Given the description of an element on the screen output the (x, y) to click on. 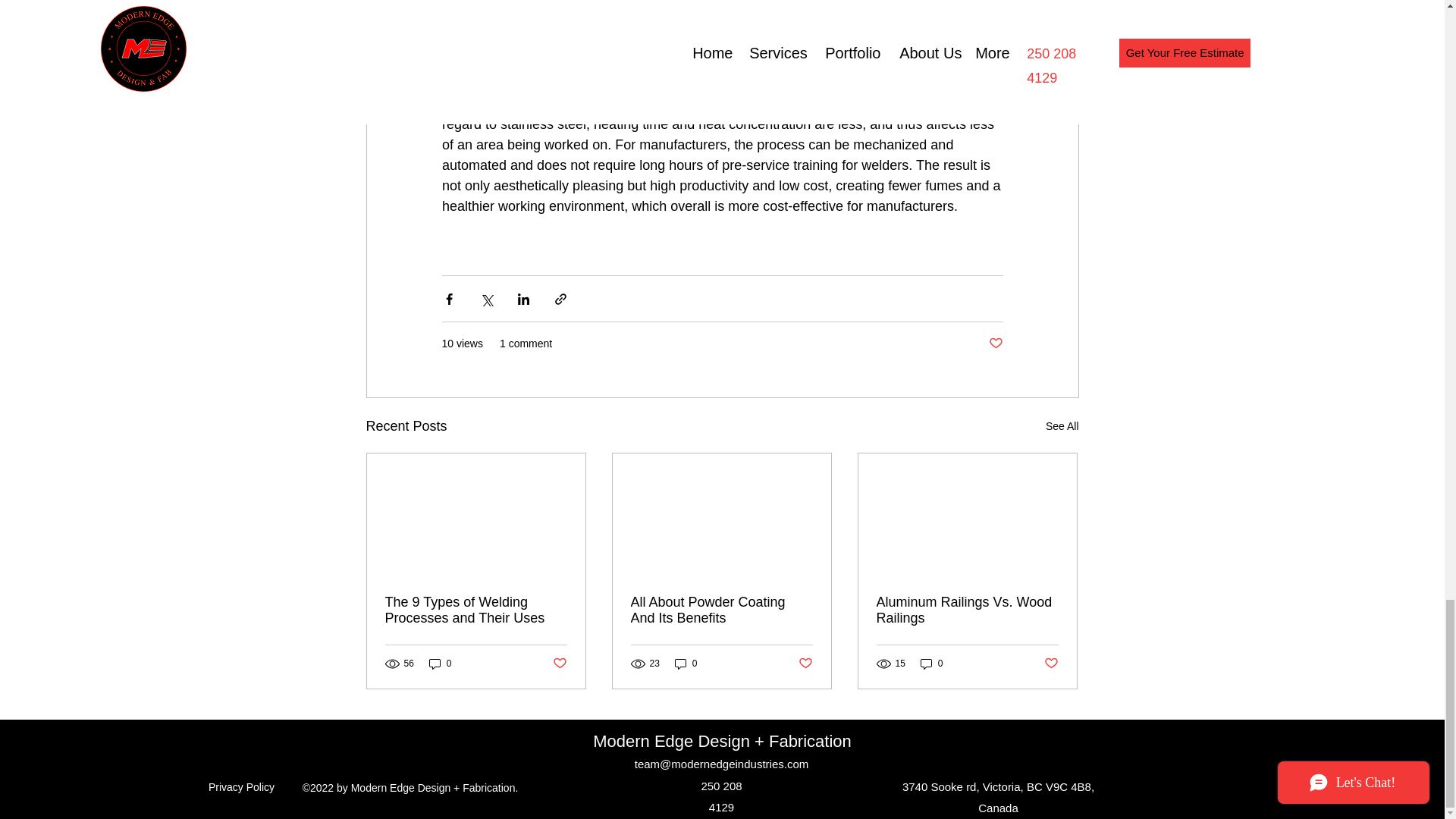
See All (1061, 426)
Aluminum Railings Vs. Wood Railings (967, 610)
Post not marked as liked (995, 343)
Post not marked as liked (558, 663)
All About Powder Coating And Its Benefits (721, 610)
The 9 Types of Welding Processes and Their Uses (476, 610)
Post not marked as liked (804, 663)
0 (685, 663)
0 (440, 663)
